Given the description of an element on the screen output the (x, y) to click on. 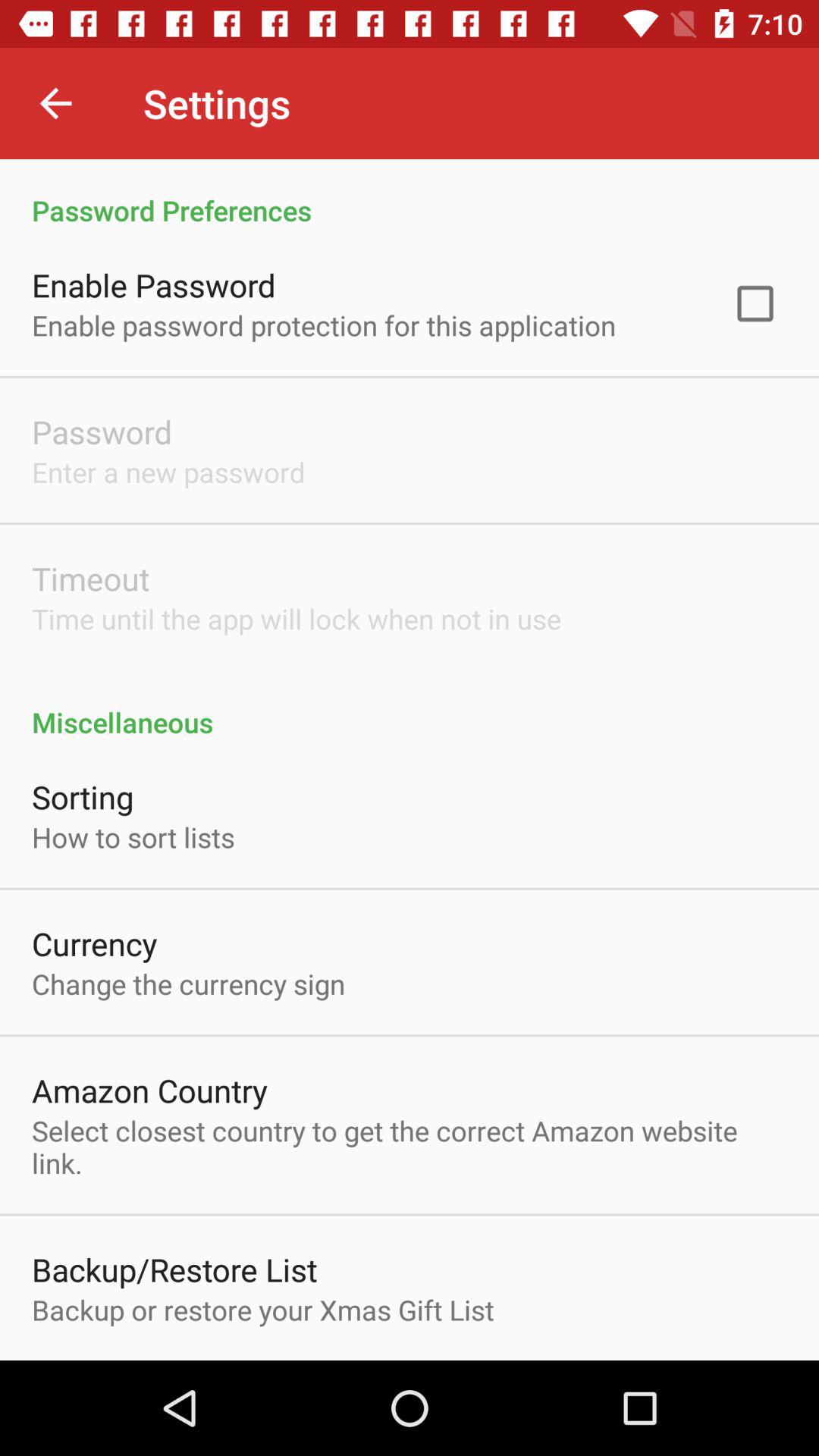
click the icon above the miscellaneous (755, 303)
